Given the description of an element on the screen output the (x, y) to click on. 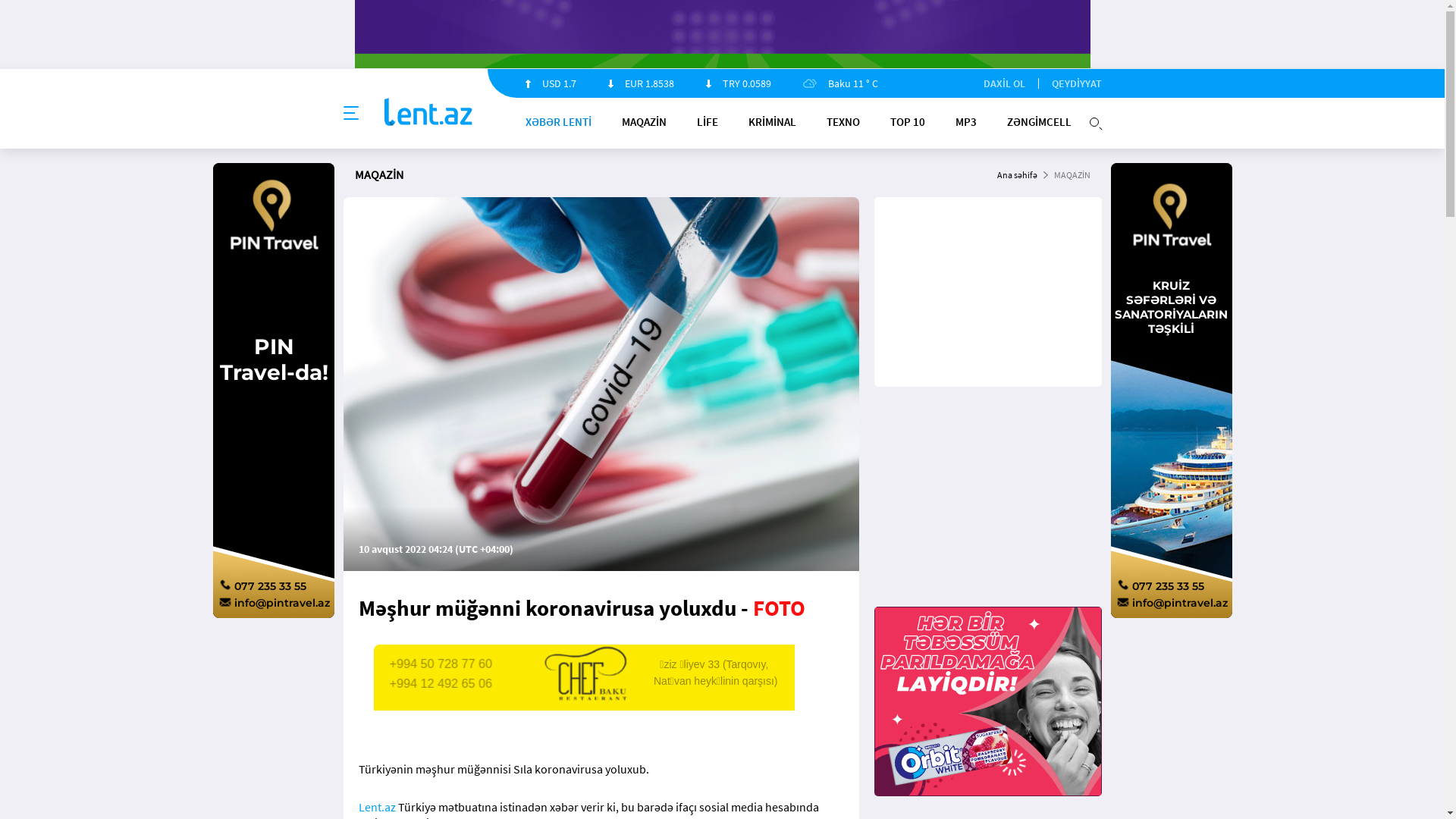
TOP 10 Element type: text (907, 121)
Lent.az Element type: text (376, 806)
MP3 Element type: text (965, 121)
Iframe Element type: hover (987, 701)
TRY 0.0589 Element type: text (737, 83)
USD 1.7 Element type: text (549, 83)
Iframe Element type: hover (615, 691)
TEXNO Element type: text (842, 121)
EUR 1.8538 Element type: text (641, 83)
